Given the description of an element on the screen output the (x, y) to click on. 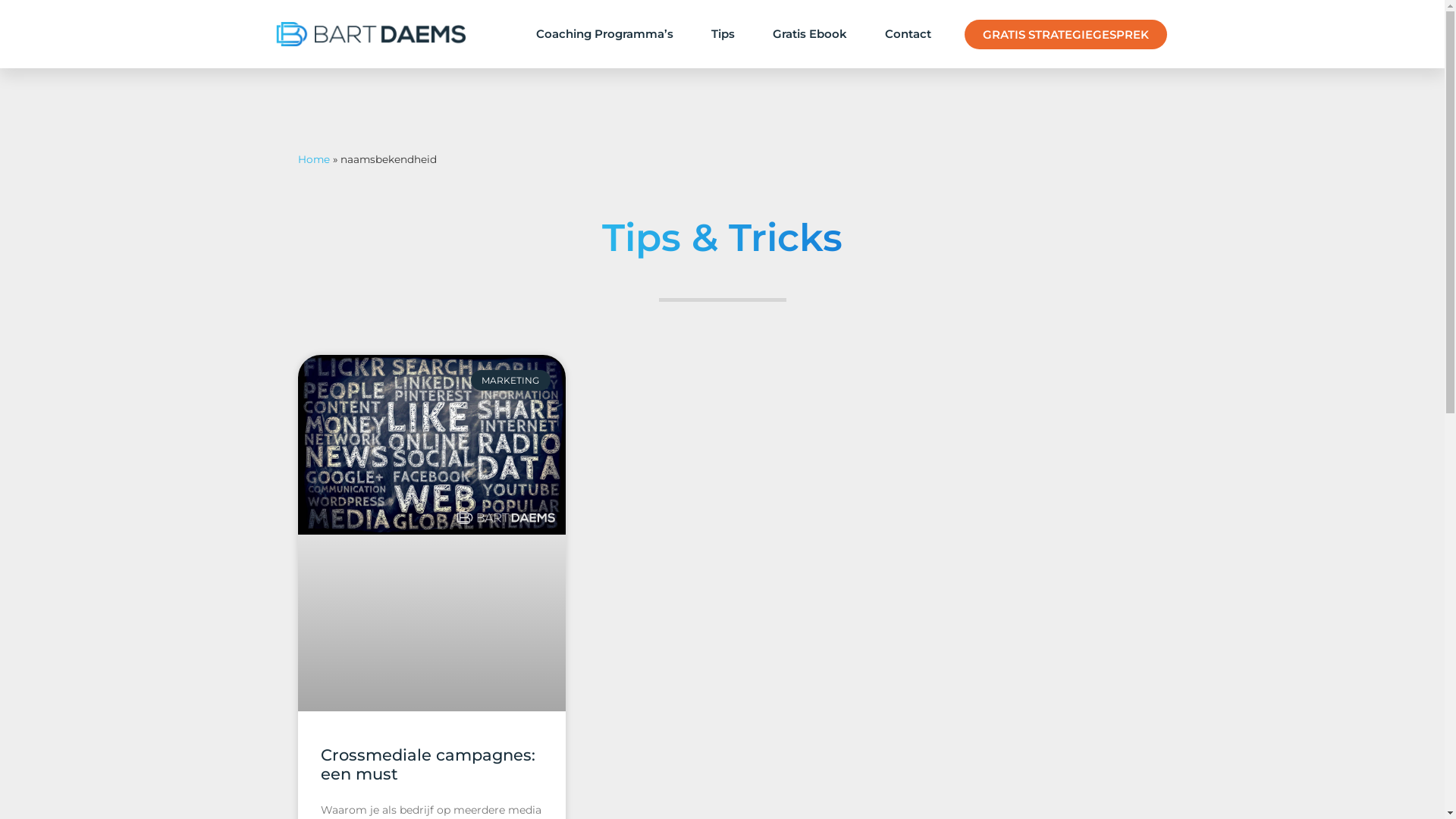
Crossmediale campagnes: een must Element type: text (427, 764)
GRATIS STRATEGIEGESPREK Element type: text (1065, 34)
Contact Element type: text (907, 34)
Gratis Ebook Element type: text (809, 34)
Home Element type: text (313, 159)
Tips Element type: text (722, 34)
